Given the description of an element on the screen output the (x, y) to click on. 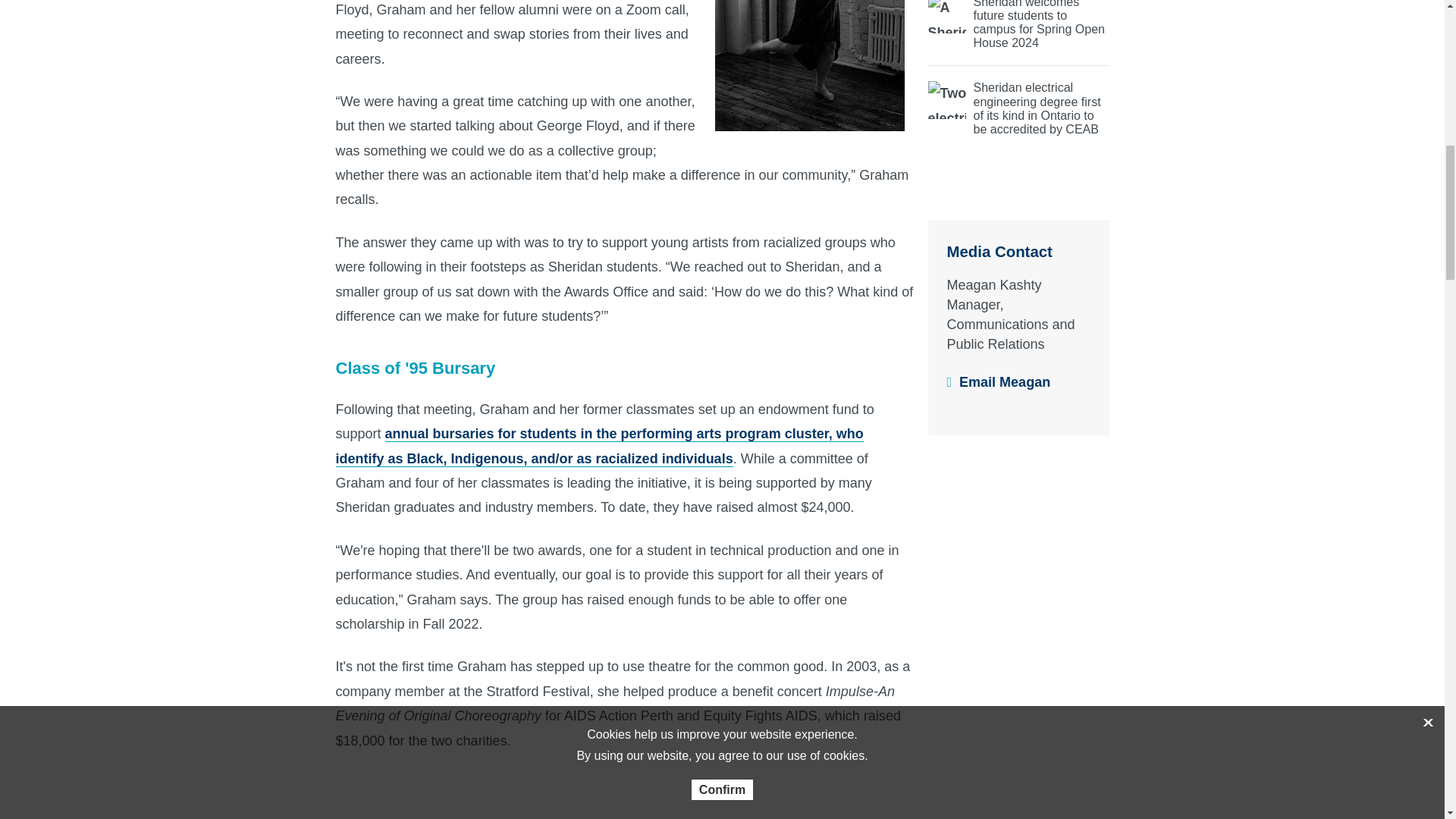
sheridan-spring-open-house-2024 (1018, 24)
Email Meagan (1004, 381)
